Given the description of an element on the screen output the (x, y) to click on. 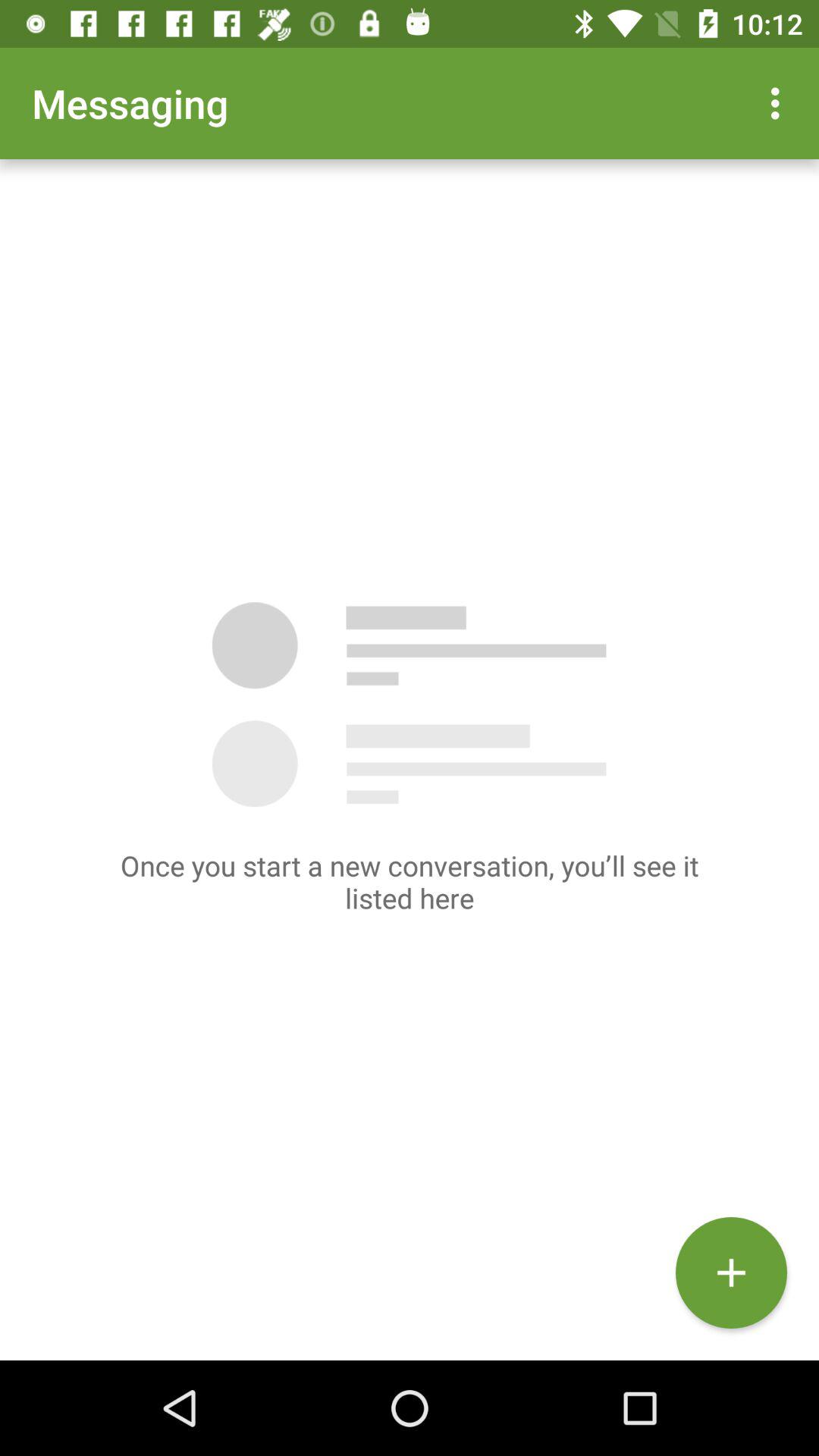
turn on the icon at the top right corner (779, 103)
